Given the description of an element on the screen output the (x, y) to click on. 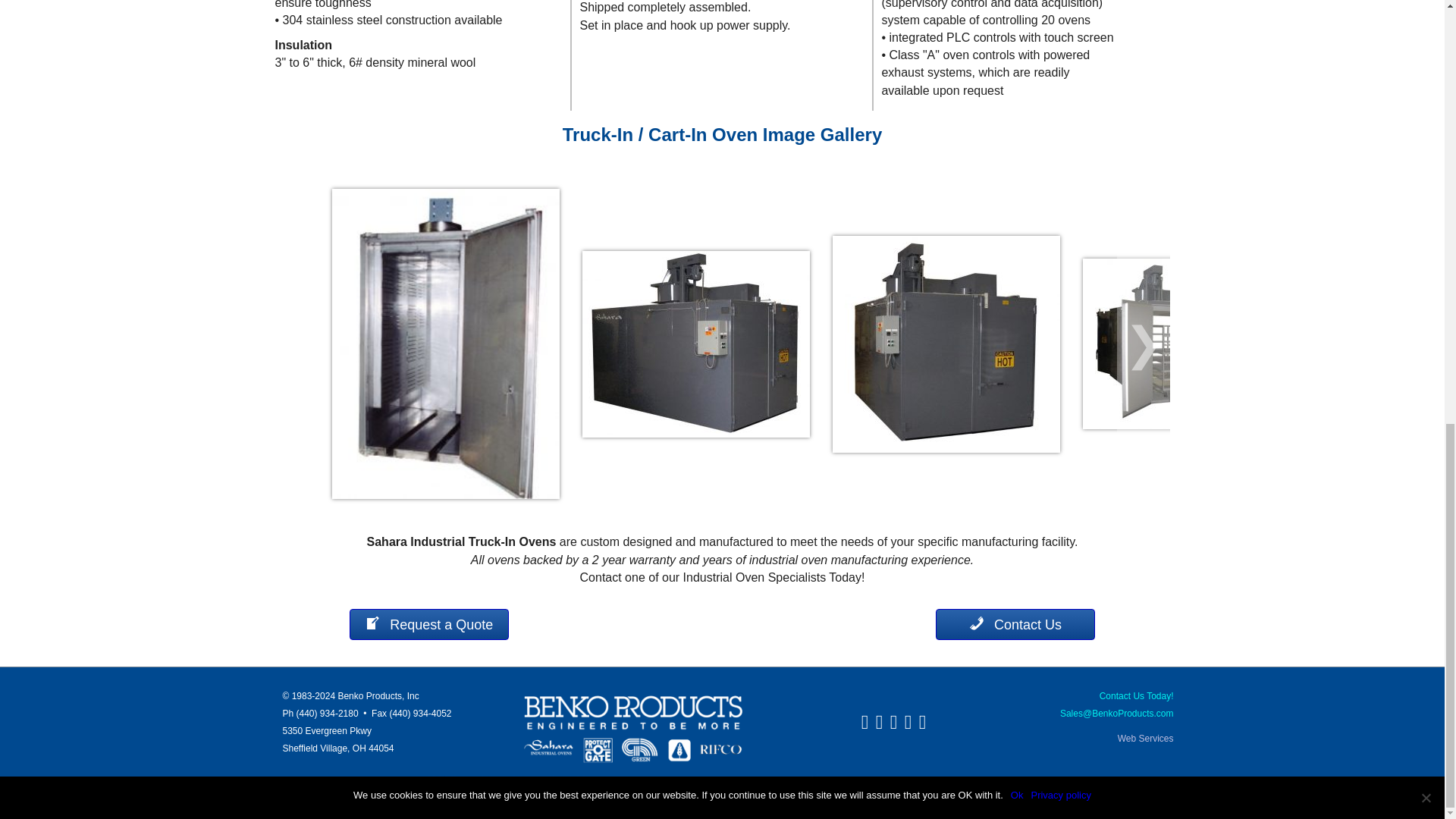
SSL-2018 (512, 786)
